Given the description of an element on the screen output the (x, y) to click on. 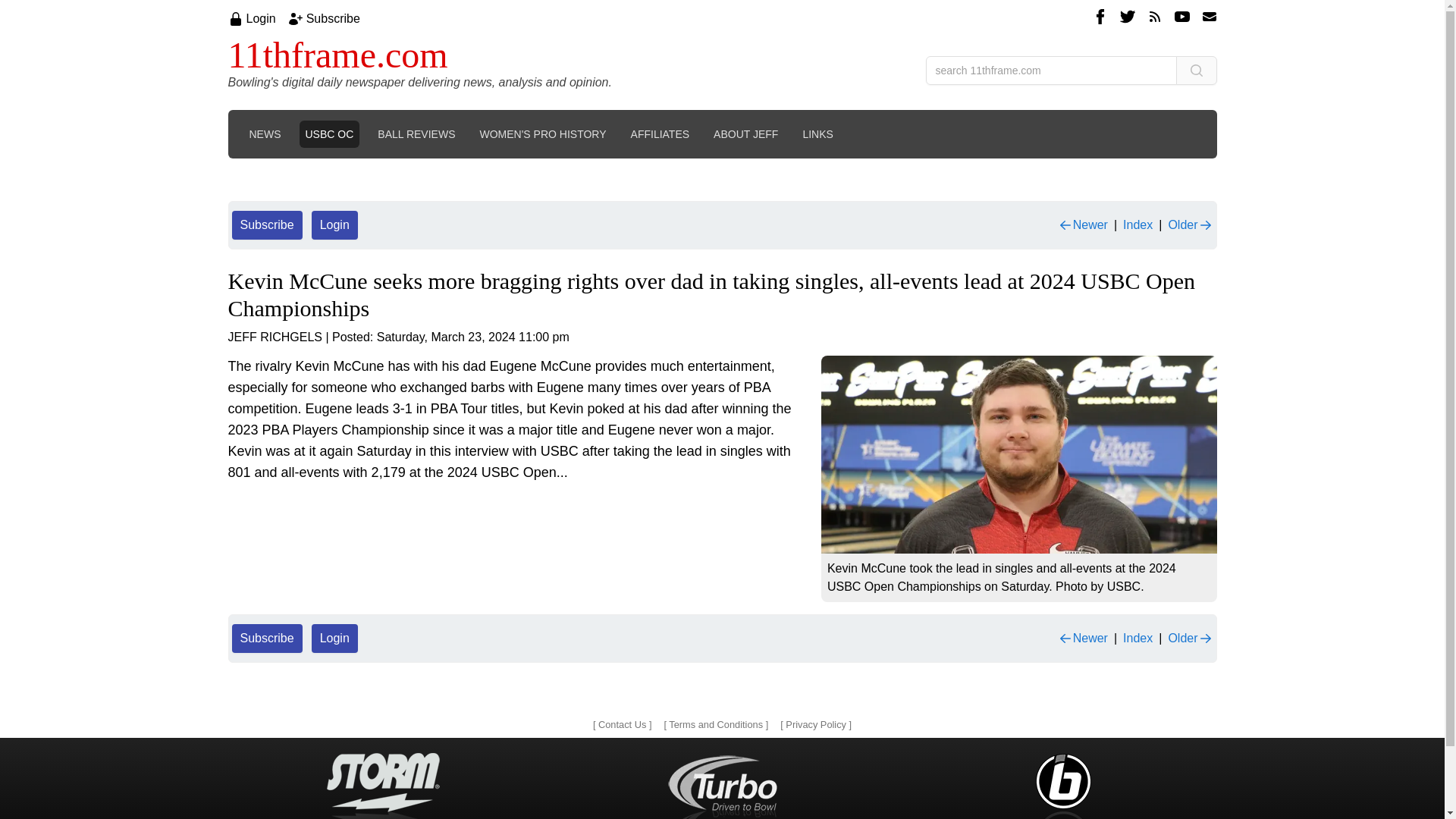
Older (1189, 638)
11thframe.com (336, 55)
search (1194, 70)
Subscribe (332, 18)
Older (1189, 225)
ABOUT JEFF (745, 134)
Privacy Policy (815, 724)
USBC OC (328, 134)
Subscribe (266, 638)
Terms and Conditions (715, 724)
Subscribe (266, 224)
LINKS (817, 134)
WOMEN'S PRO HISTORY (542, 134)
AFFILIATES (659, 134)
Newer (1083, 225)
